Given the description of an element on the screen output the (x, y) to click on. 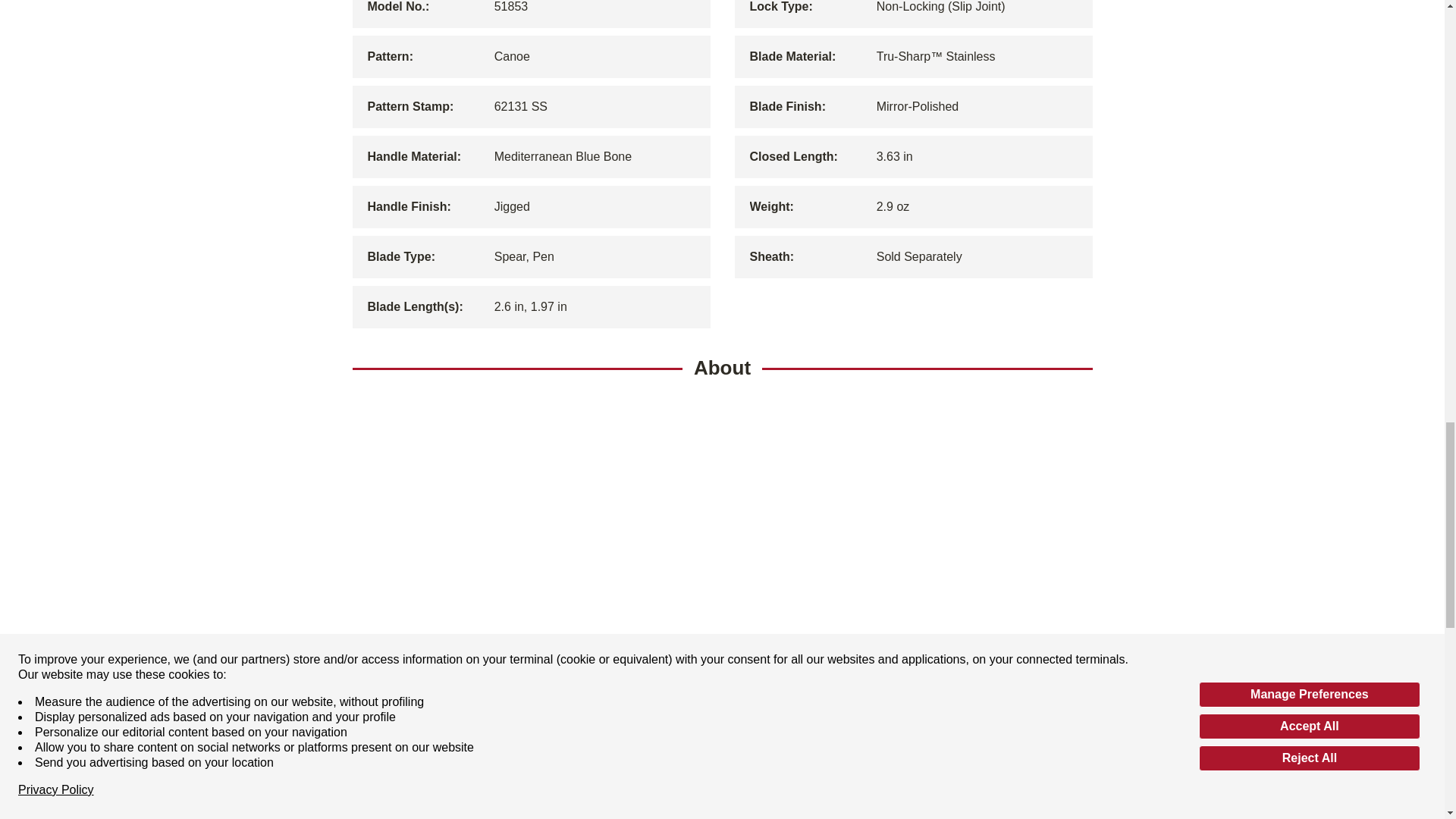
62131 SS (598, 106)
Canoe (598, 56)
Mediterranean Blue Bone (598, 157)
3.63 (979, 157)
51853 (598, 7)
Spear, Pen (598, 257)
2.6 in, 1.97 in (598, 307)
2.9 oz (979, 207)
Mirror-Polished (979, 106)
Jigged (598, 207)
